Given the description of an element on the screen output the (x, y) to click on. 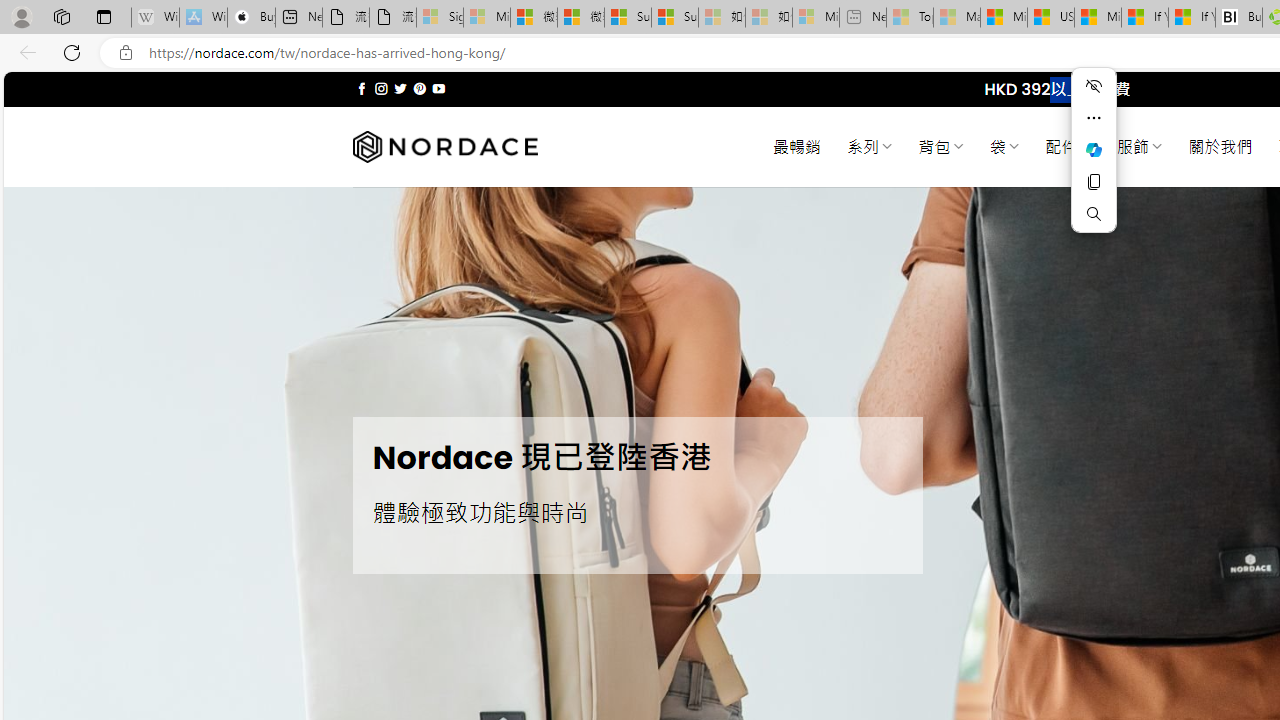
Follow on Instagram (381, 88)
Marine life - MSN - Sleeping (957, 17)
Follow on YouTube (438, 88)
More actions (1094, 117)
Sign in to your Microsoft account - Sleeping (440, 17)
